Given the description of an element on the screen output the (x, y) to click on. 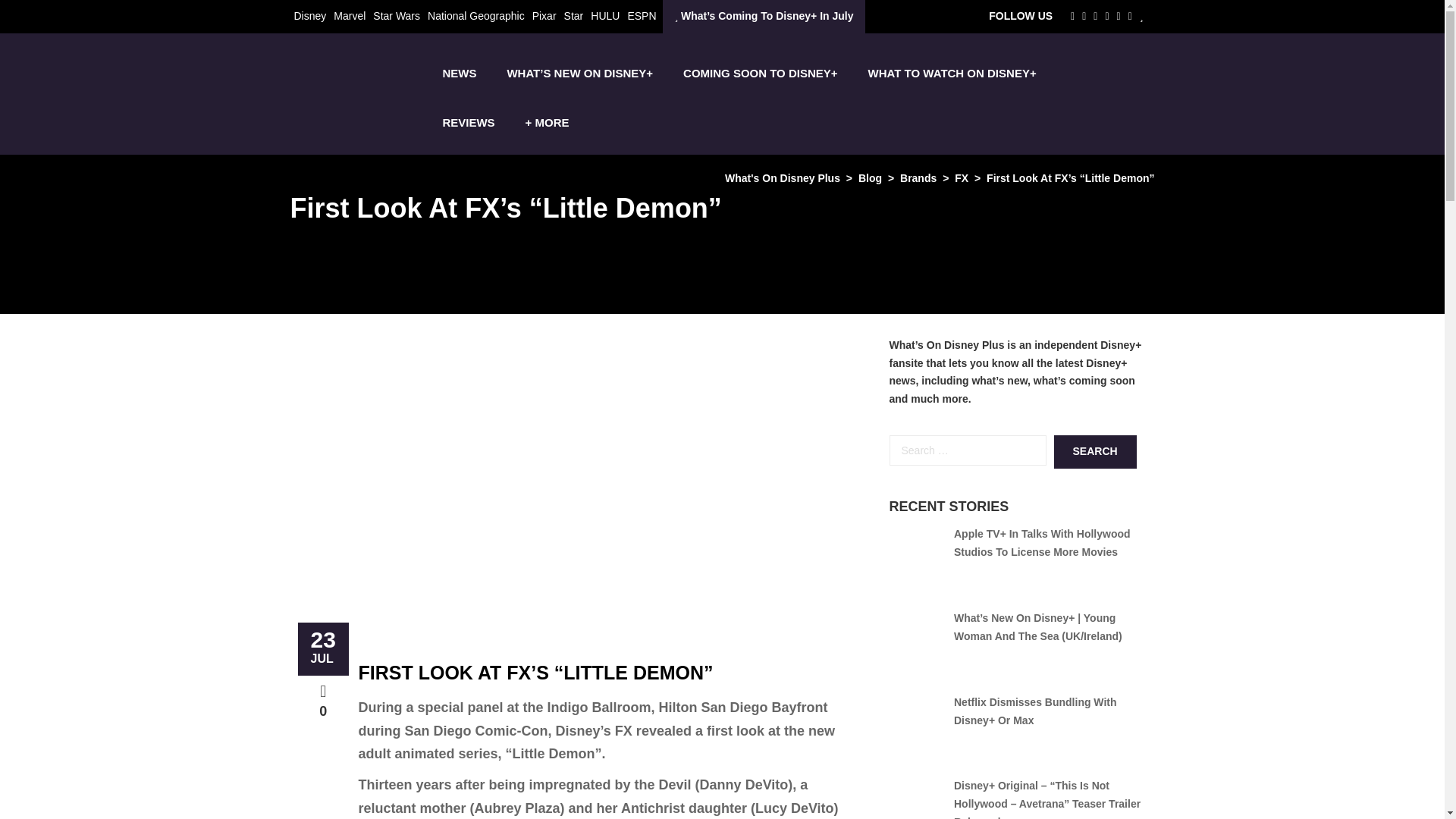
Marvel (349, 15)
Star (573, 15)
Go to the Brands Category archives. (917, 177)
ESPN (641, 15)
REVIEWS (467, 122)
Pixar (544, 15)
National Geographic (476, 15)
Go to Blog. (870, 177)
Disney (310, 15)
HULU (605, 15)
Star Wars (396, 15)
Go to What's On Disney Plus. (782, 177)
NEWS (459, 72)
Go to the FX Category archives. (961, 177)
Search (1095, 451)
